Given the description of an element on the screen output the (x, y) to click on. 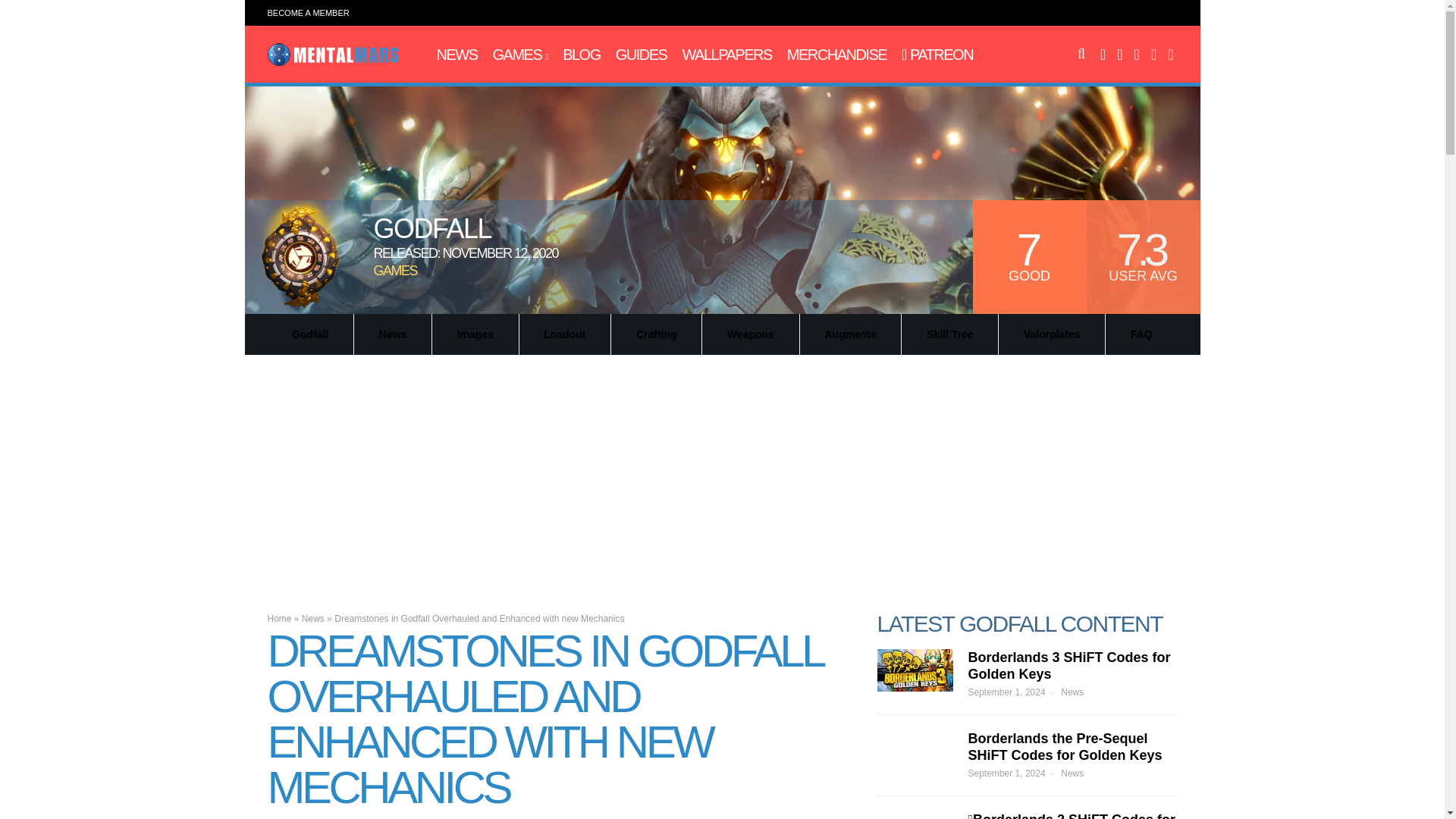
GAMES (520, 54)
NEWS (456, 54)
MentalMars (331, 62)
BLOG (580, 54)
Game Wallpapers (726, 54)
GUIDES (640, 54)
WALLPAPERS (726, 54)
News (456, 54)
BECOME A MEMBER (307, 13)
Blog (580, 54)
